Given the description of an element on the screen output the (x, y) to click on. 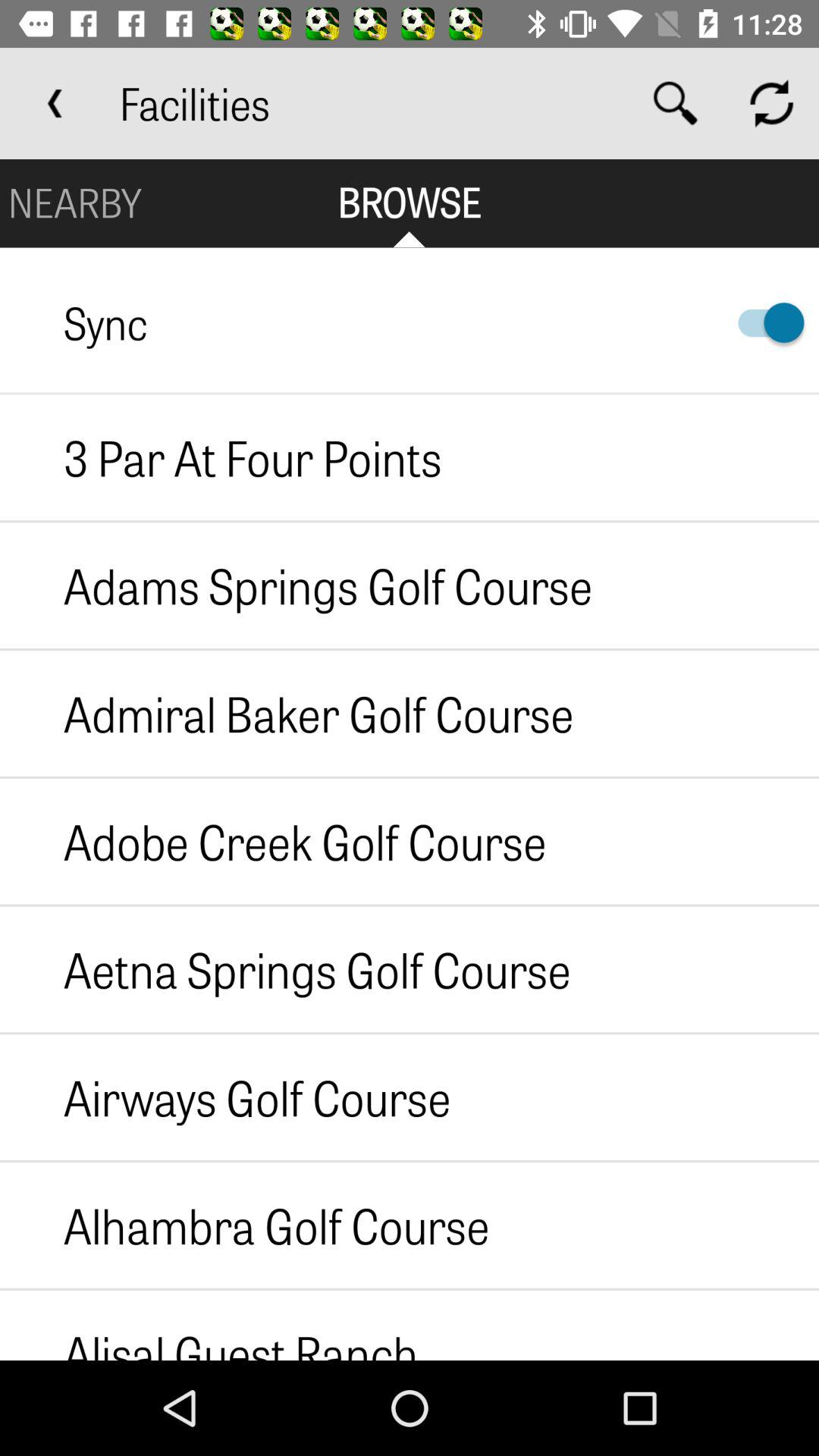
flip until 3 par at (220, 457)
